Given the description of an element on the screen output the (x, y) to click on. 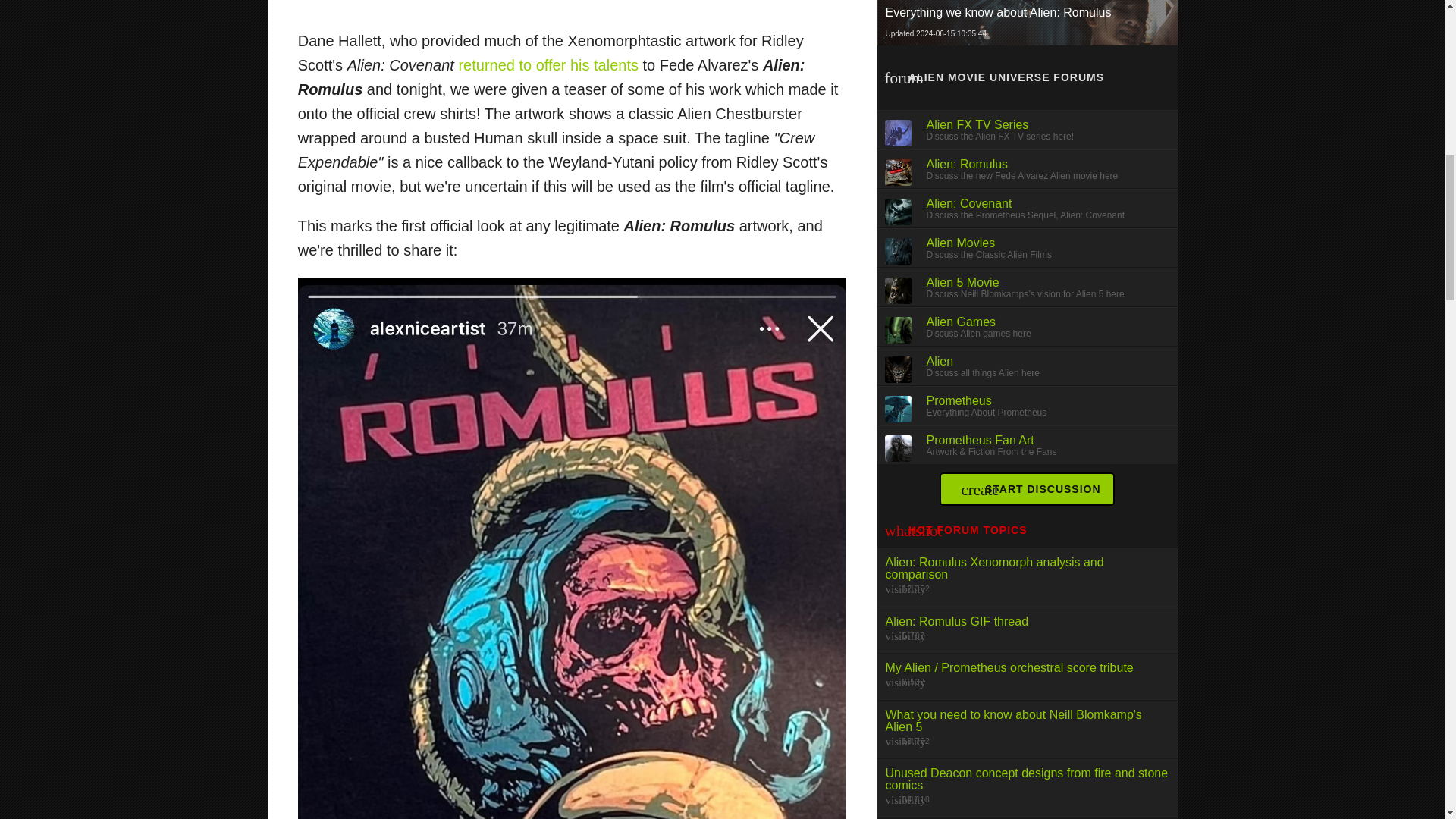
returned to offer his talents (548, 64)
